Given the description of an element on the screen output the (x, y) to click on. 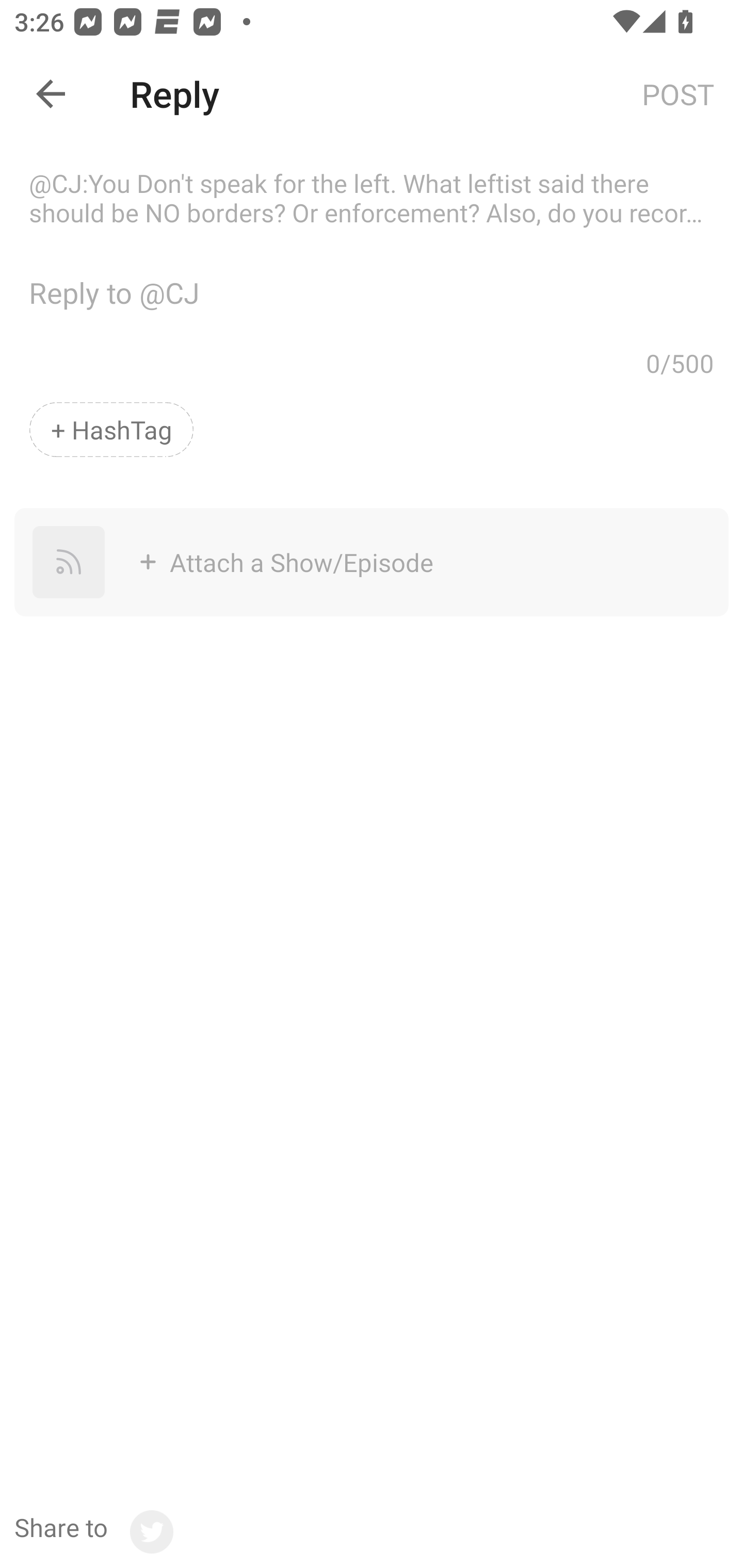
Navigate up (50, 93)
POST (677, 92)
Reply to @CJ (371, 245)
+ HashTag (110, 429)
  Attach a Show/Episode (362, 562)
Share to (93, 1531)
